Given the description of an element on the screen output the (x, y) to click on. 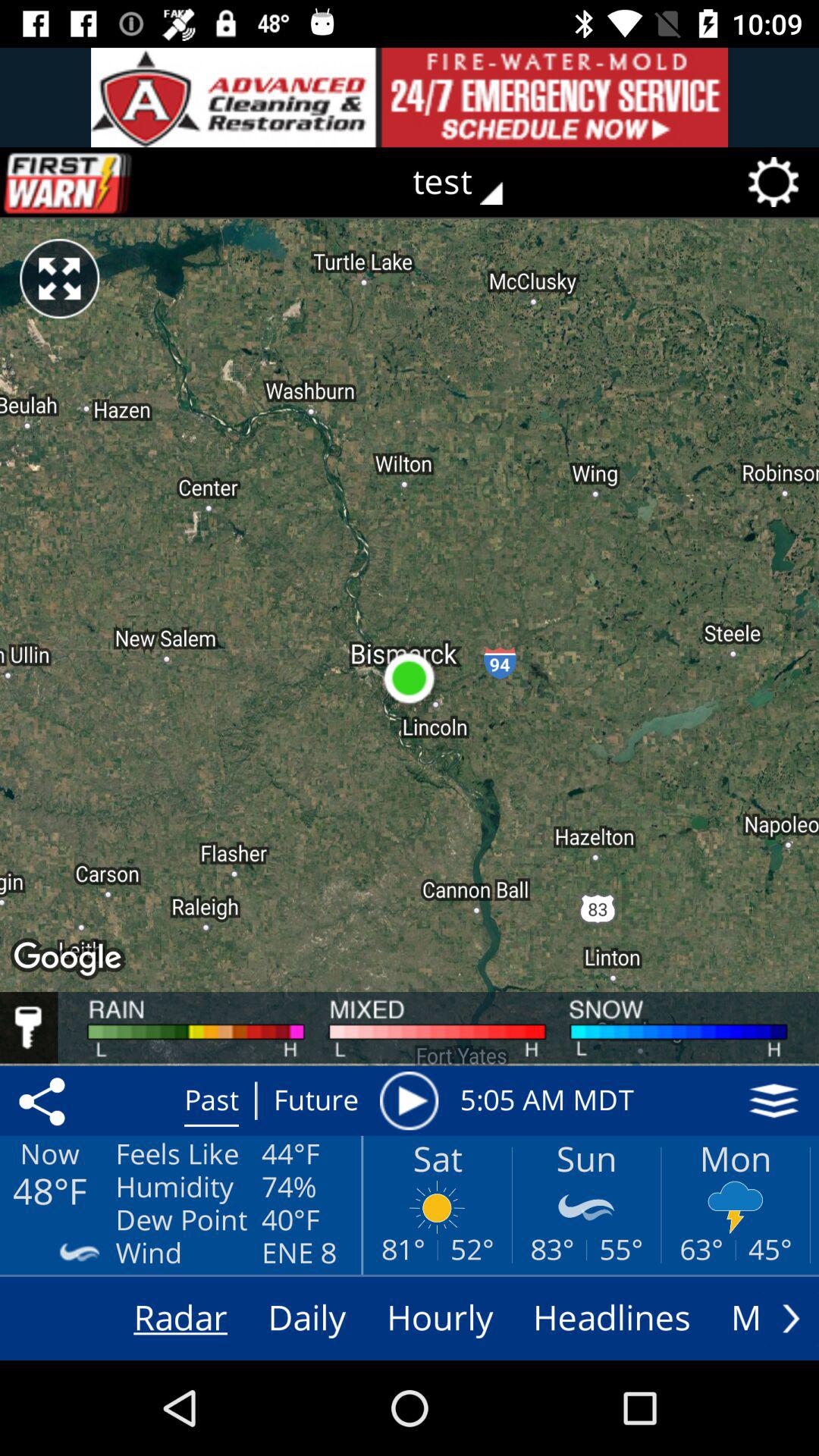
click item above the now icon (44, 1100)
